Given the description of an element on the screen output the (x, y) to click on. 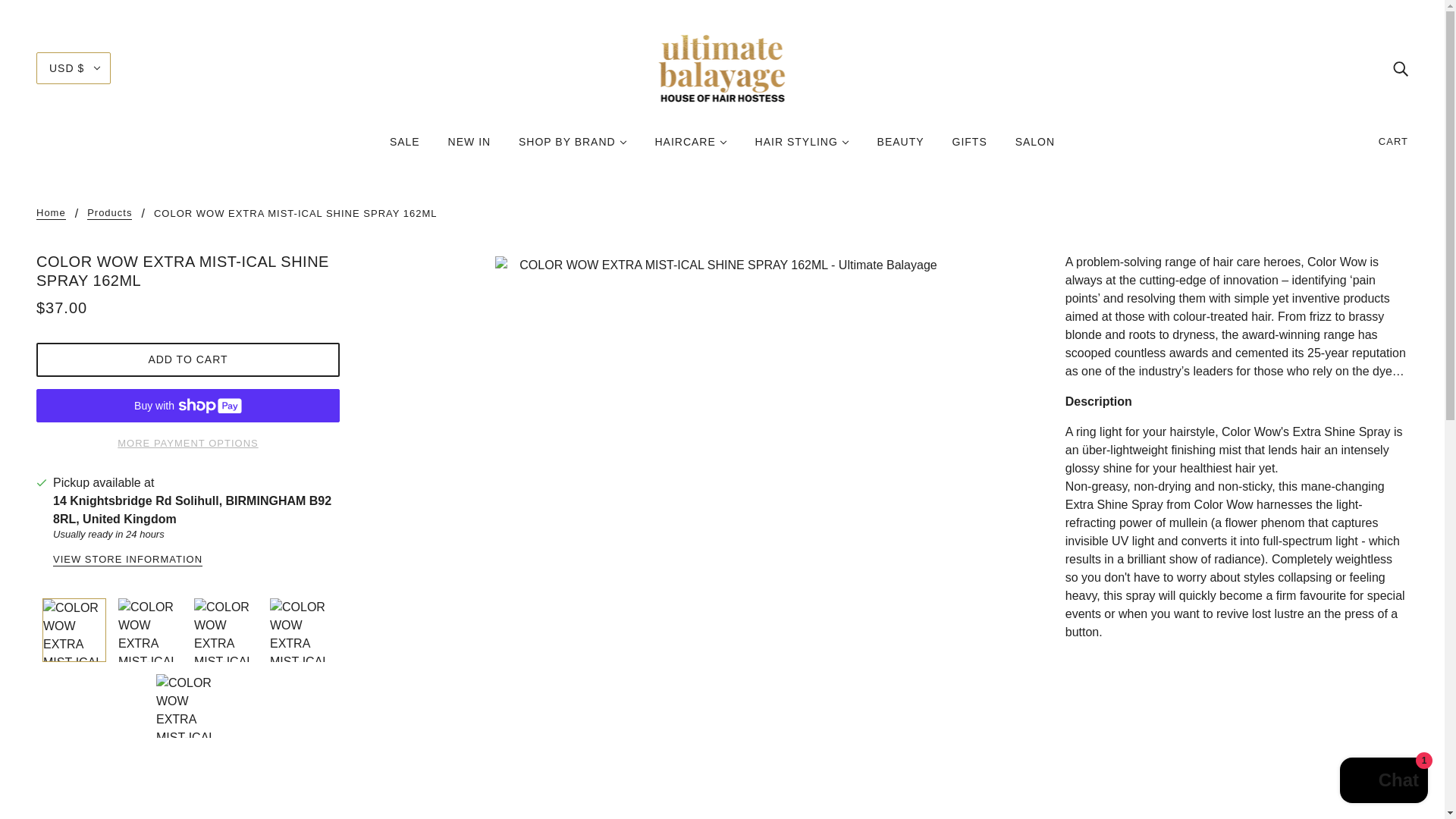
Shopify online store chat (1383, 781)
Ultimate Balayage (722, 66)
